Given the description of an element on the screen output the (x, y) to click on. 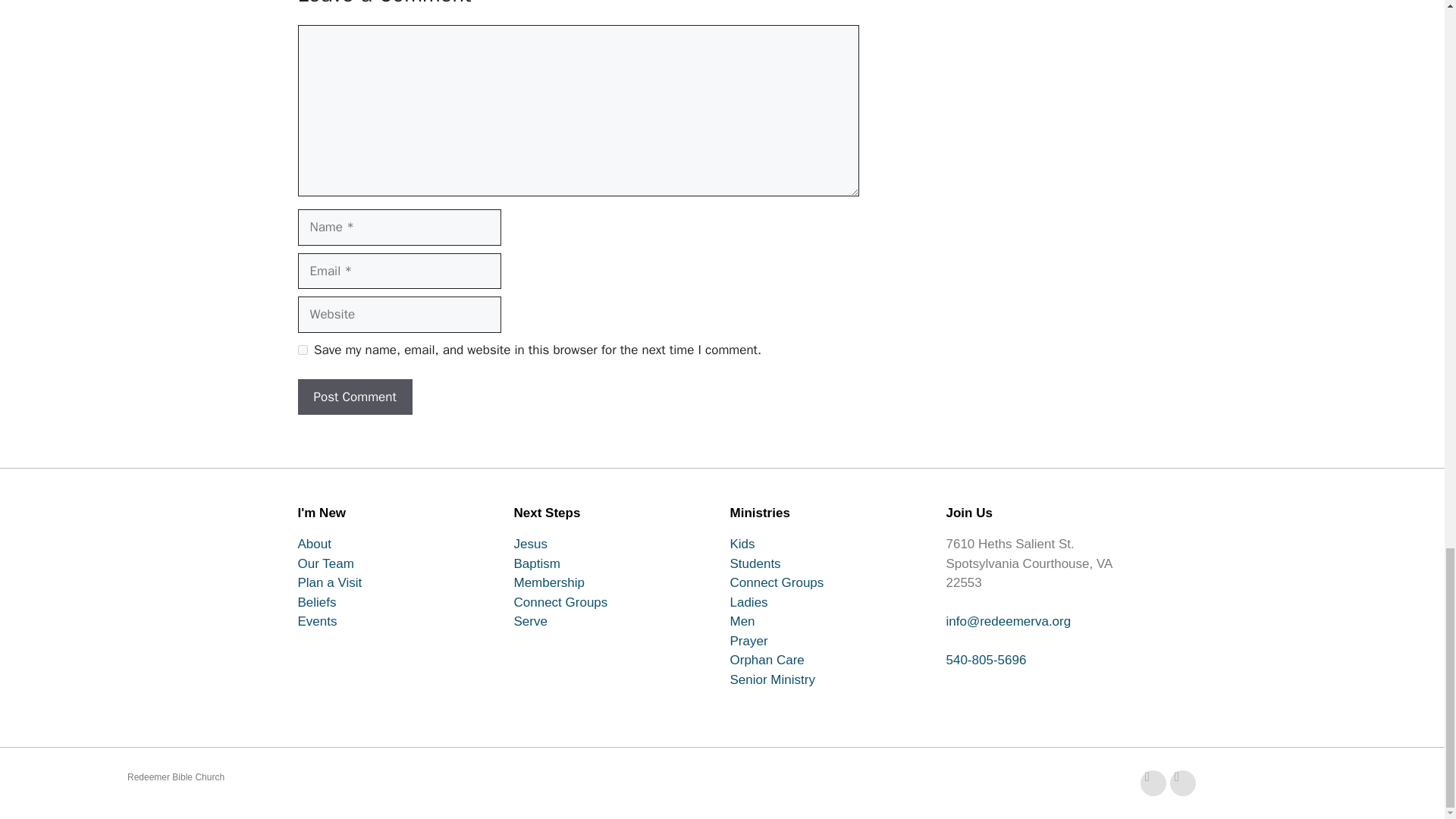
Post Comment (354, 397)
yes (302, 349)
